Given the description of an element on the screen output the (x, y) to click on. 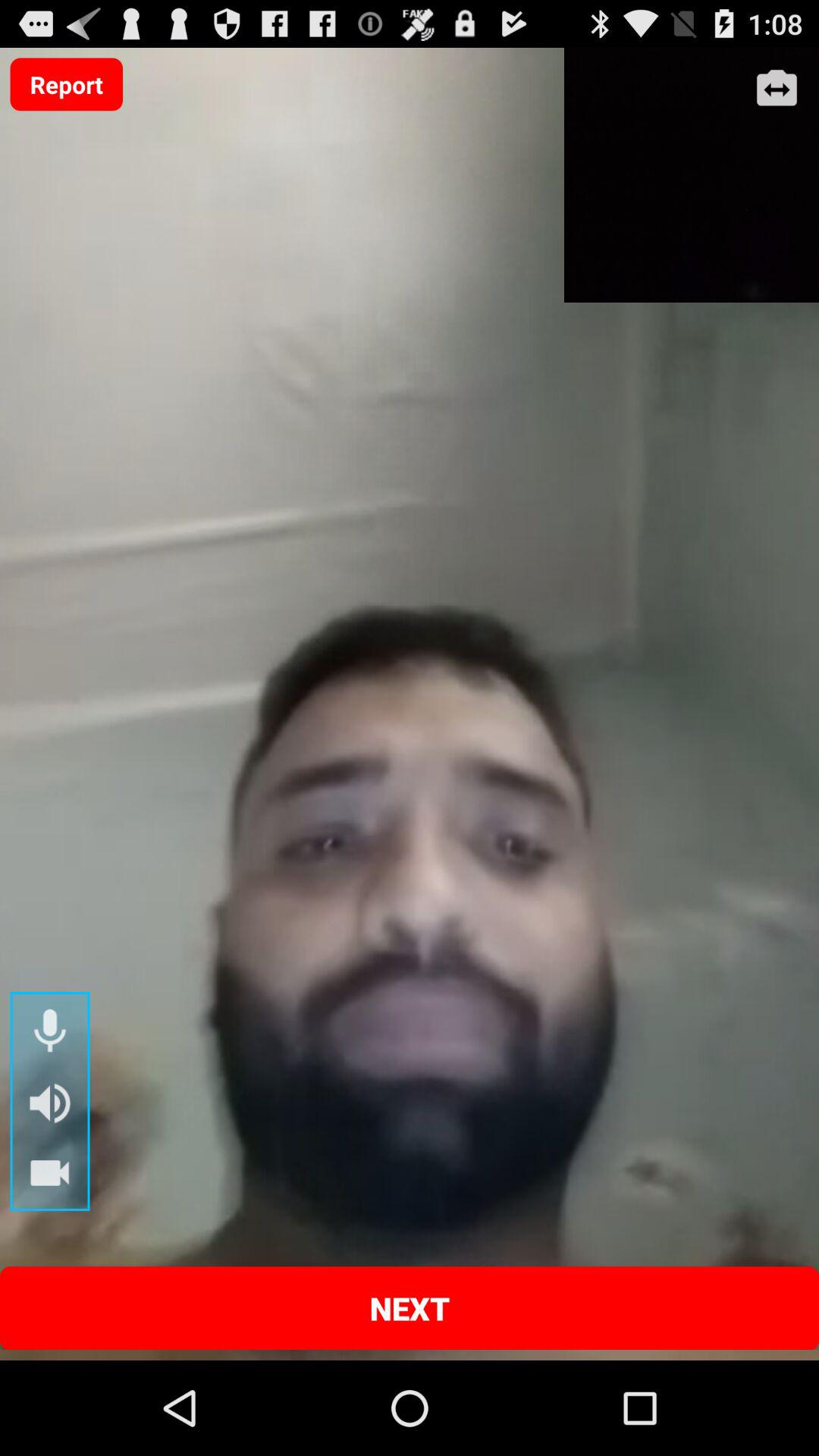
activate microphone (49, 1031)
